Given the description of an element on the screen output the (x, y) to click on. 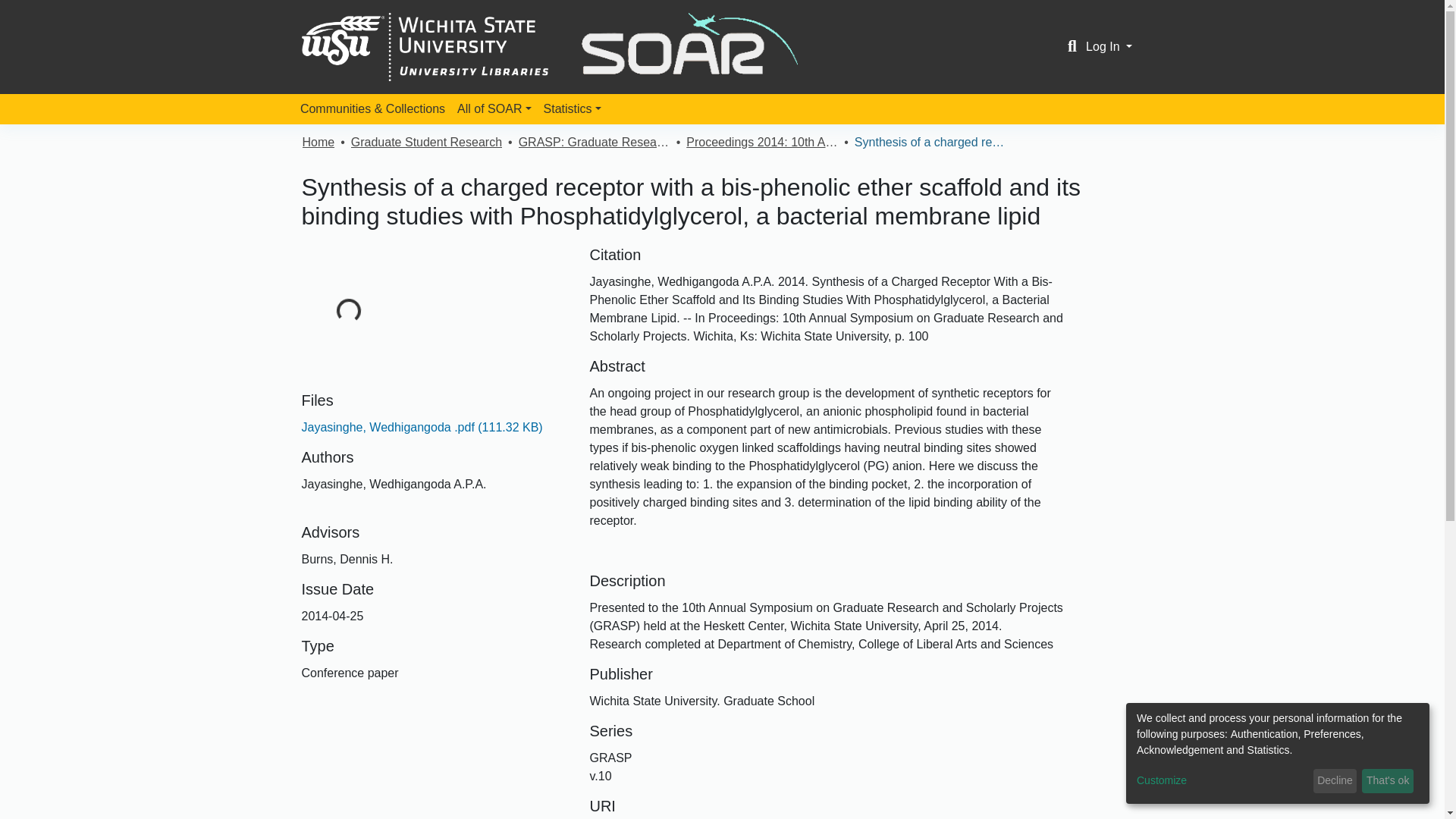
Graduate Student Research (426, 142)
Decline (1334, 781)
Log In (1108, 46)
Statistics (572, 109)
Search (1072, 46)
Home (317, 142)
That's ok (1387, 781)
Customize (1222, 780)
All of SOAR (494, 109)
GRASP: Graduate Research and Scholarly Projects (593, 142)
